Given the description of an element on the screen output the (x, y) to click on. 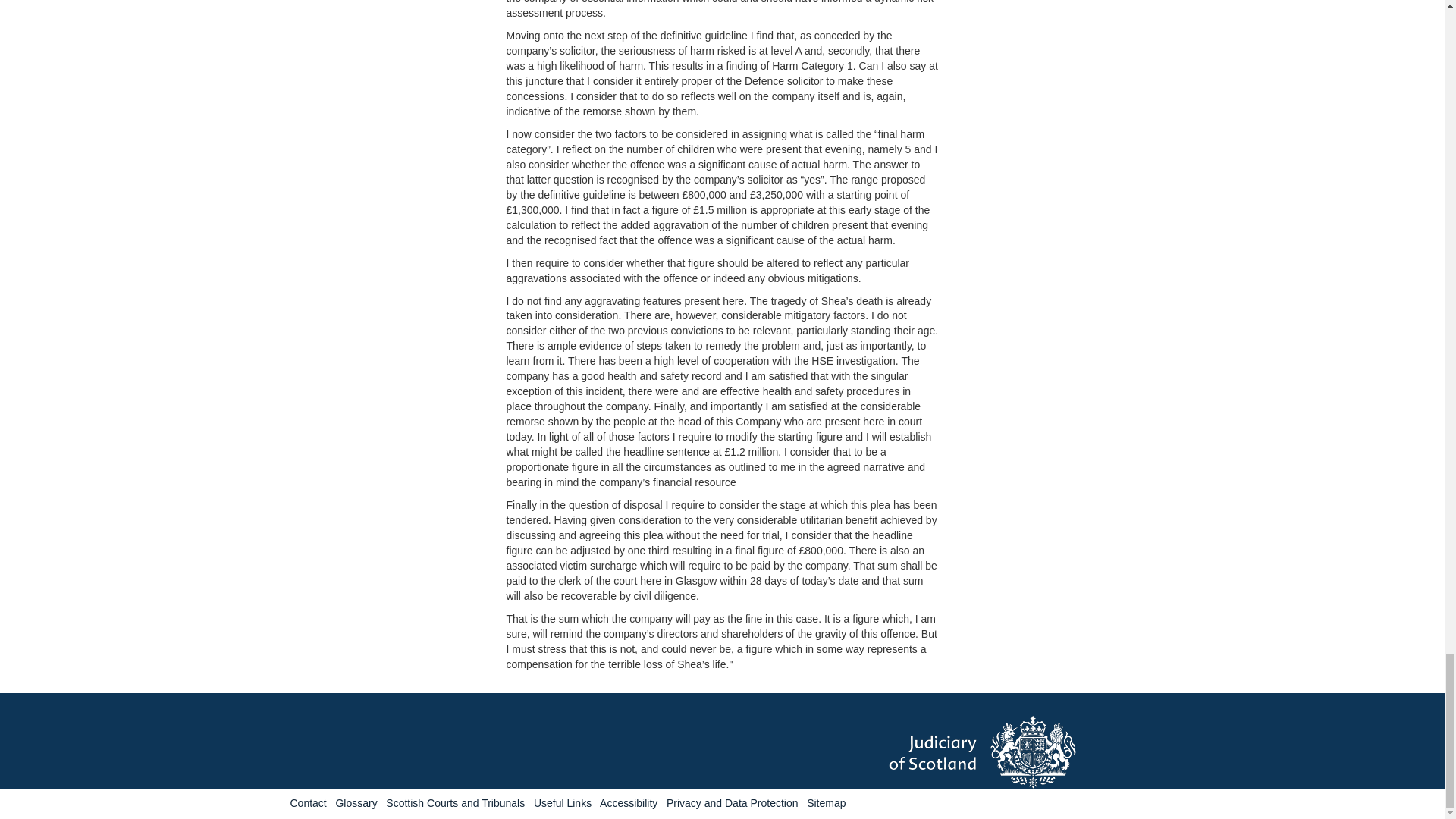
JofS-logo-350x96 (1021, 751)
